Given the description of an element on the screen output the (x, y) to click on. 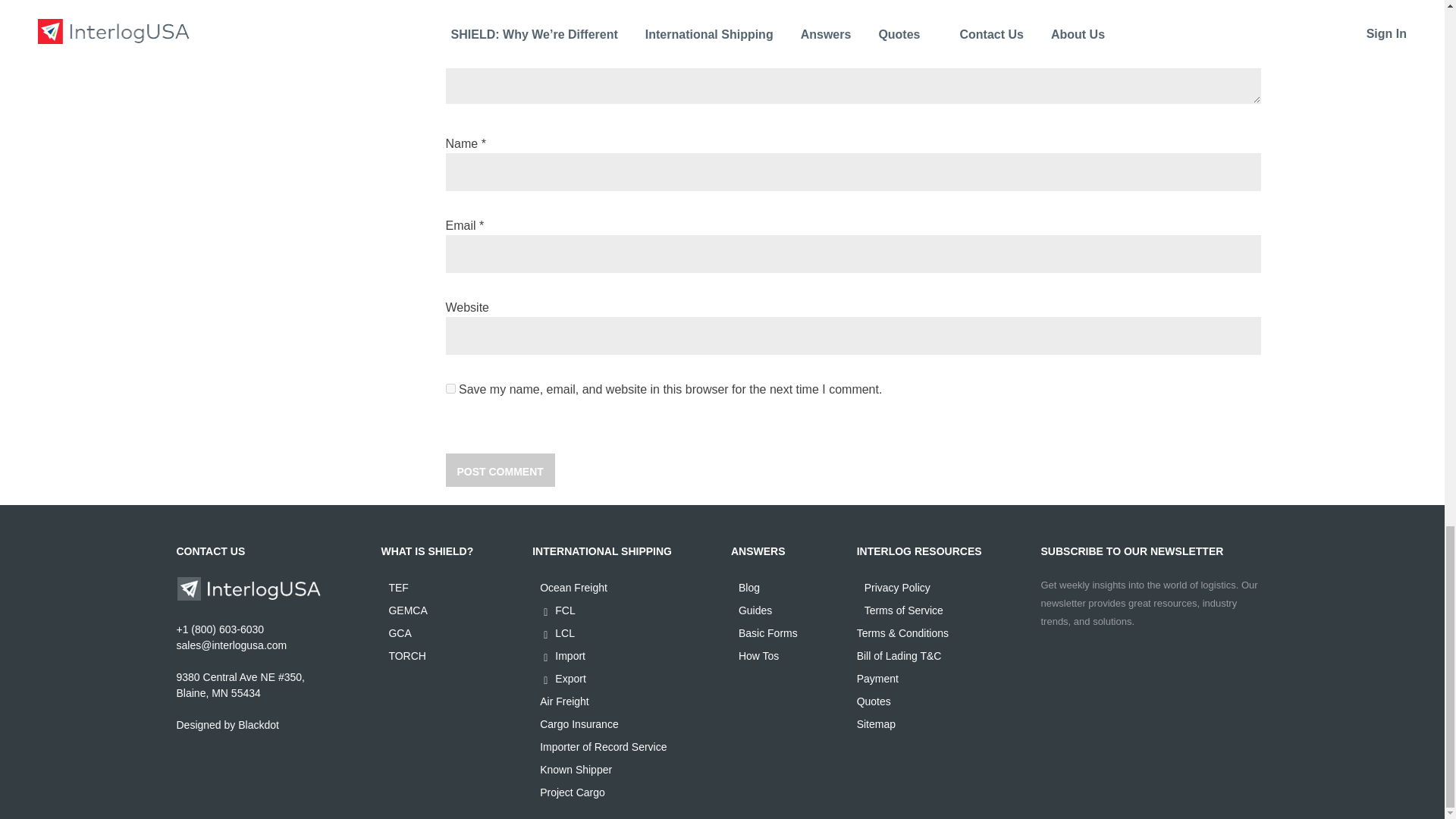
Post Comment (499, 469)
Blackdot (258, 725)
yes (450, 388)
